Given the description of an element on the screen output the (x, y) to click on. 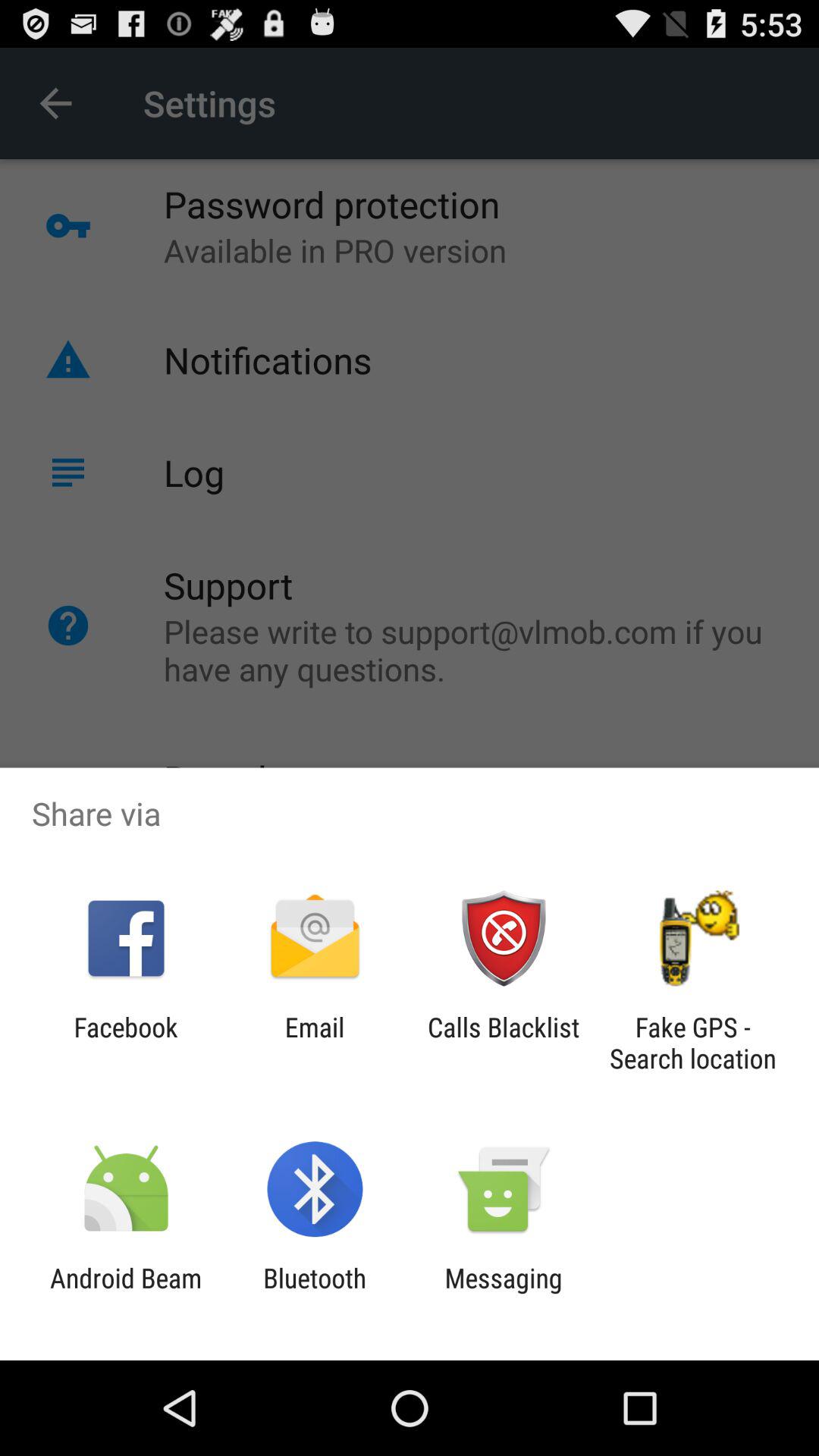
select calls blacklist icon (503, 1042)
